Given the description of an element on the screen output the (x, y) to click on. 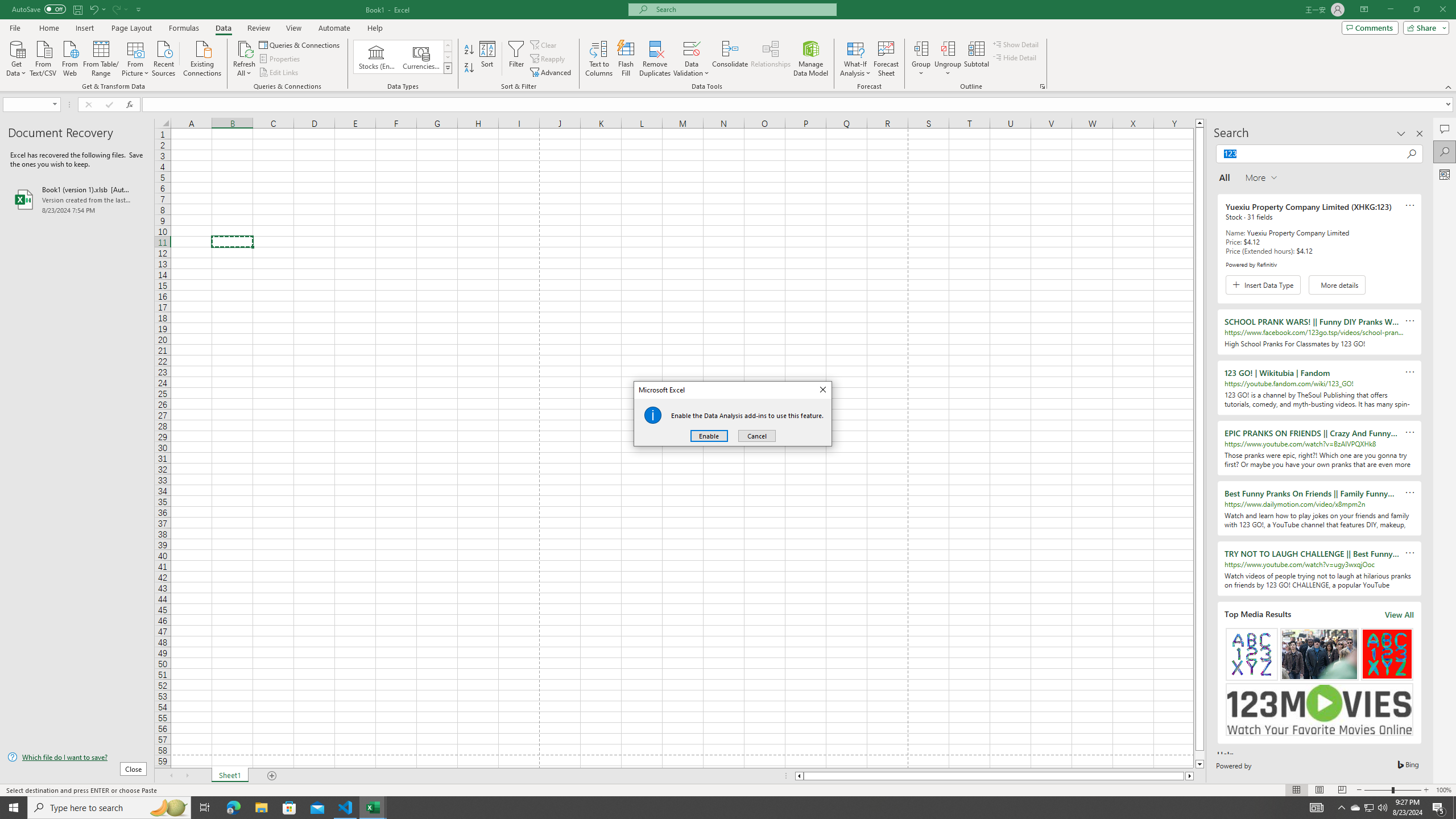
Consolidate... (729, 58)
User Promoted Notification Area (1368, 807)
Type here to search (108, 807)
